Given the description of an element on the screen output the (x, y) to click on. 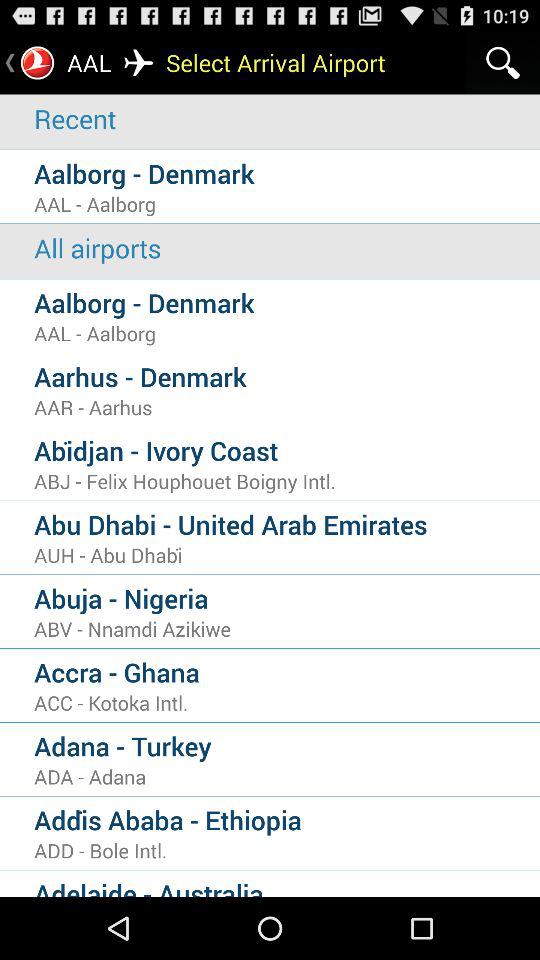
turn off the icon below aal - aalborg item (287, 247)
